Given the description of an element on the screen output the (x, y) to click on. 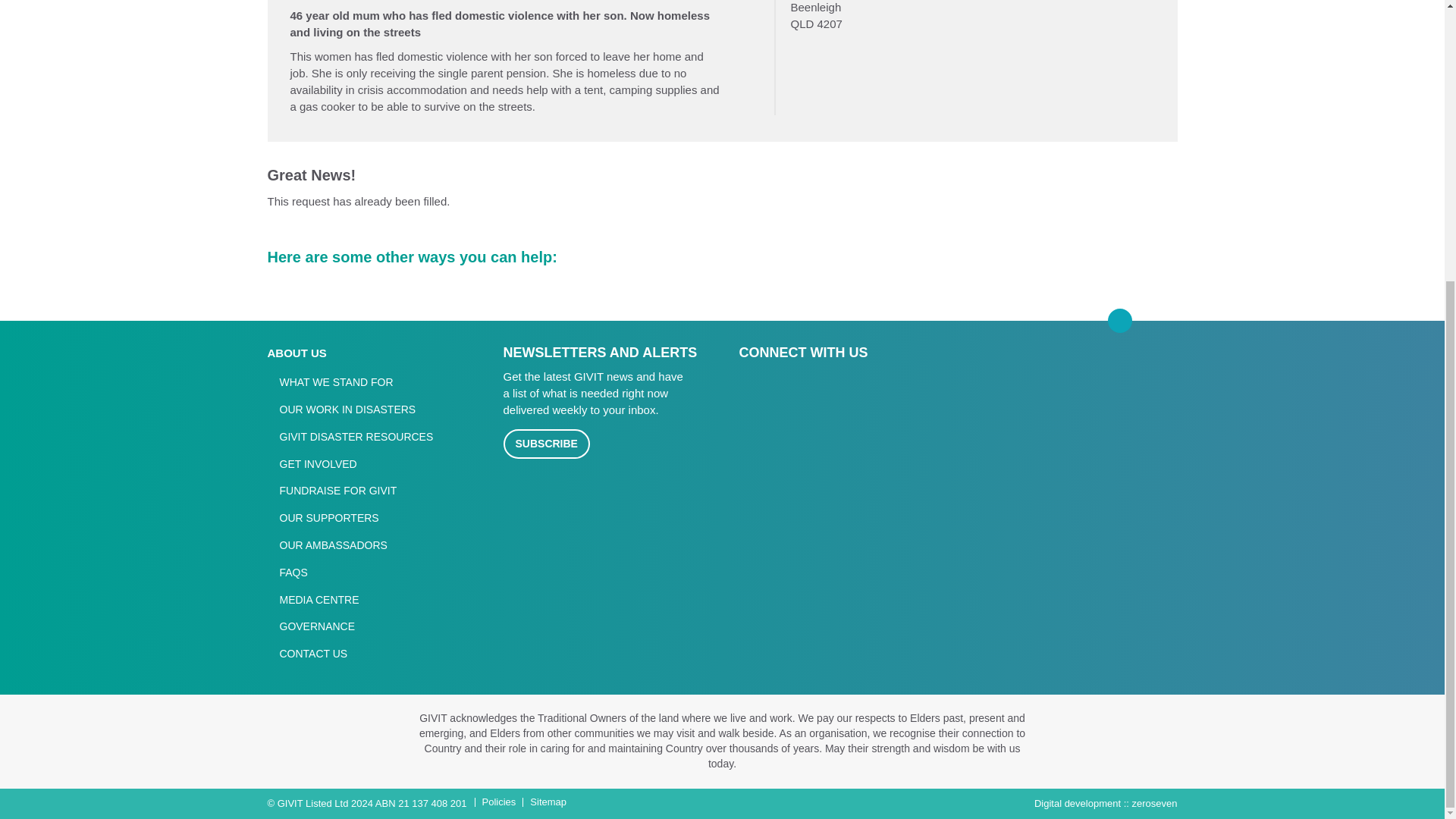
WHAT WE STAND FOR (328, 382)
OUR WORK IN DISASTERS (340, 409)
OUR AMBASSADORS (326, 545)
FAQS (286, 572)
FUNDRAISE FOR GIVIT (331, 490)
Back to top (1118, 320)
GET INVOLVED (310, 463)
OUR SUPPORTERS (322, 517)
GIVIT DISASTER RESOURCES (349, 436)
Givit homepage (1122, 402)
